Given the description of an element on the screen output the (x, y) to click on. 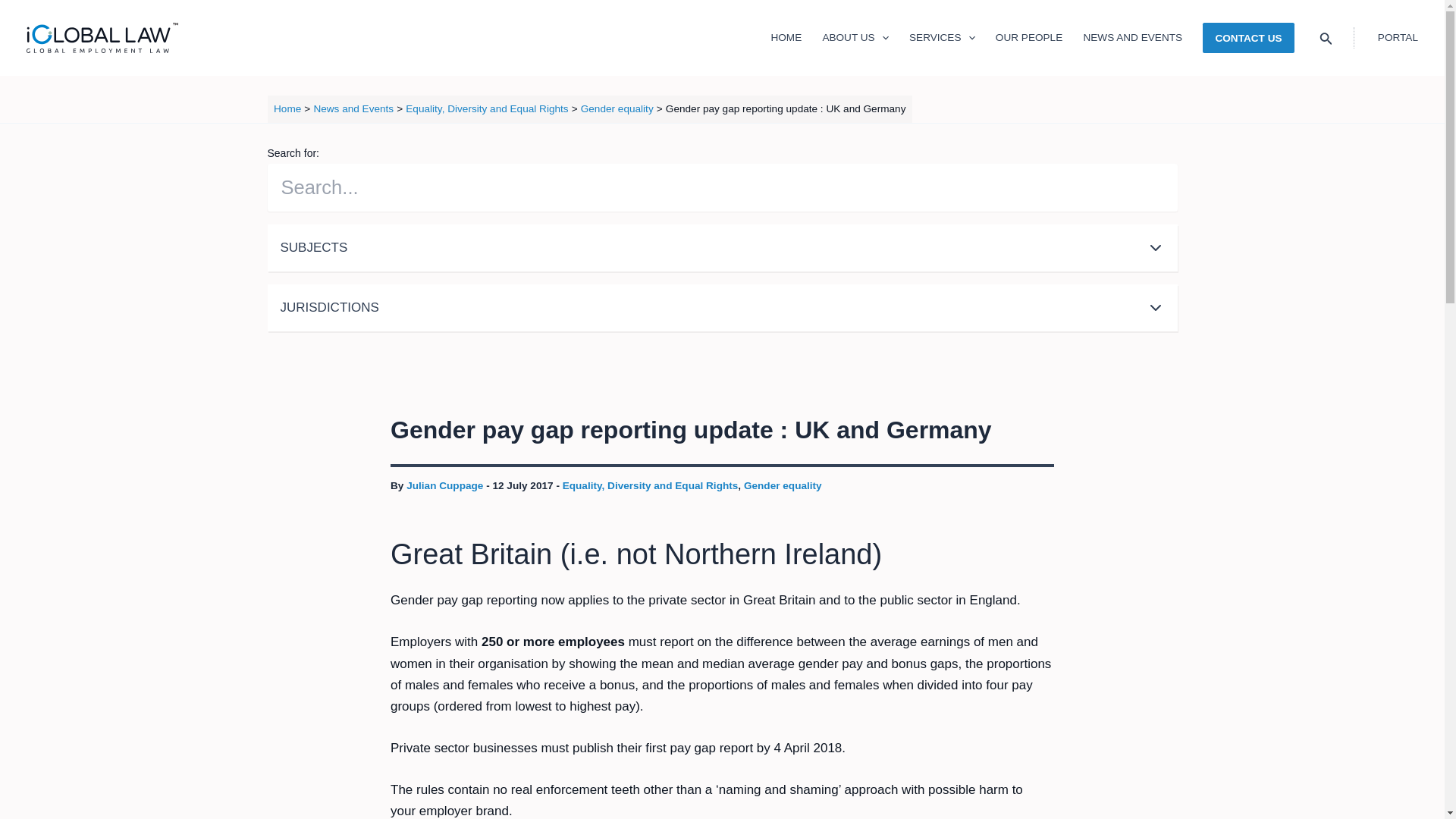
ABOUT US (855, 38)
SERVICES (941, 38)
View all posts by Julian Cuppage (446, 485)
